Given the description of an element on the screen output the (x, y) to click on. 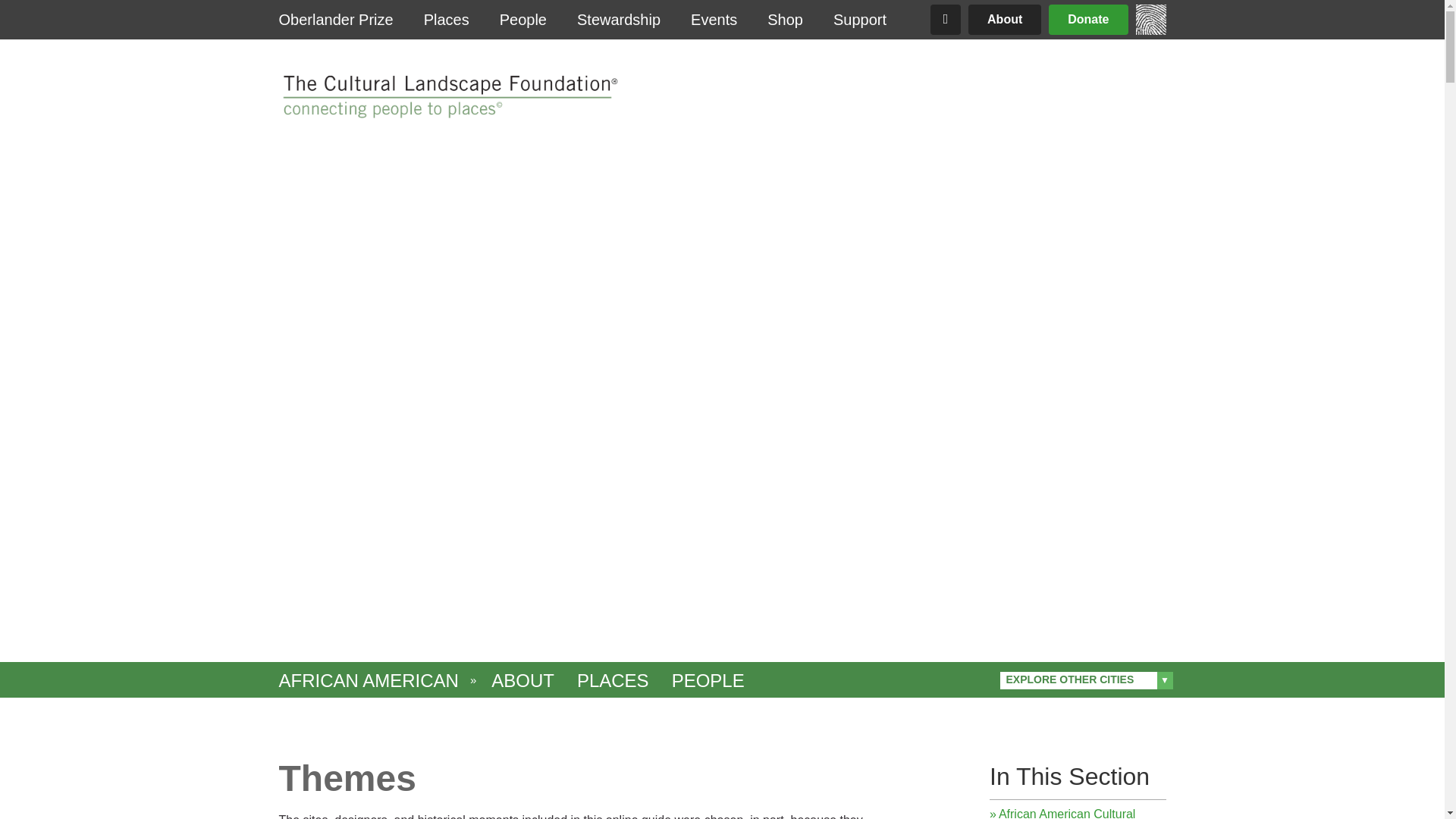
Places (446, 19)
Home (448, 96)
Oberlander Prize (336, 19)
Home (1150, 30)
